Given the description of an element on the screen output the (x, y) to click on. 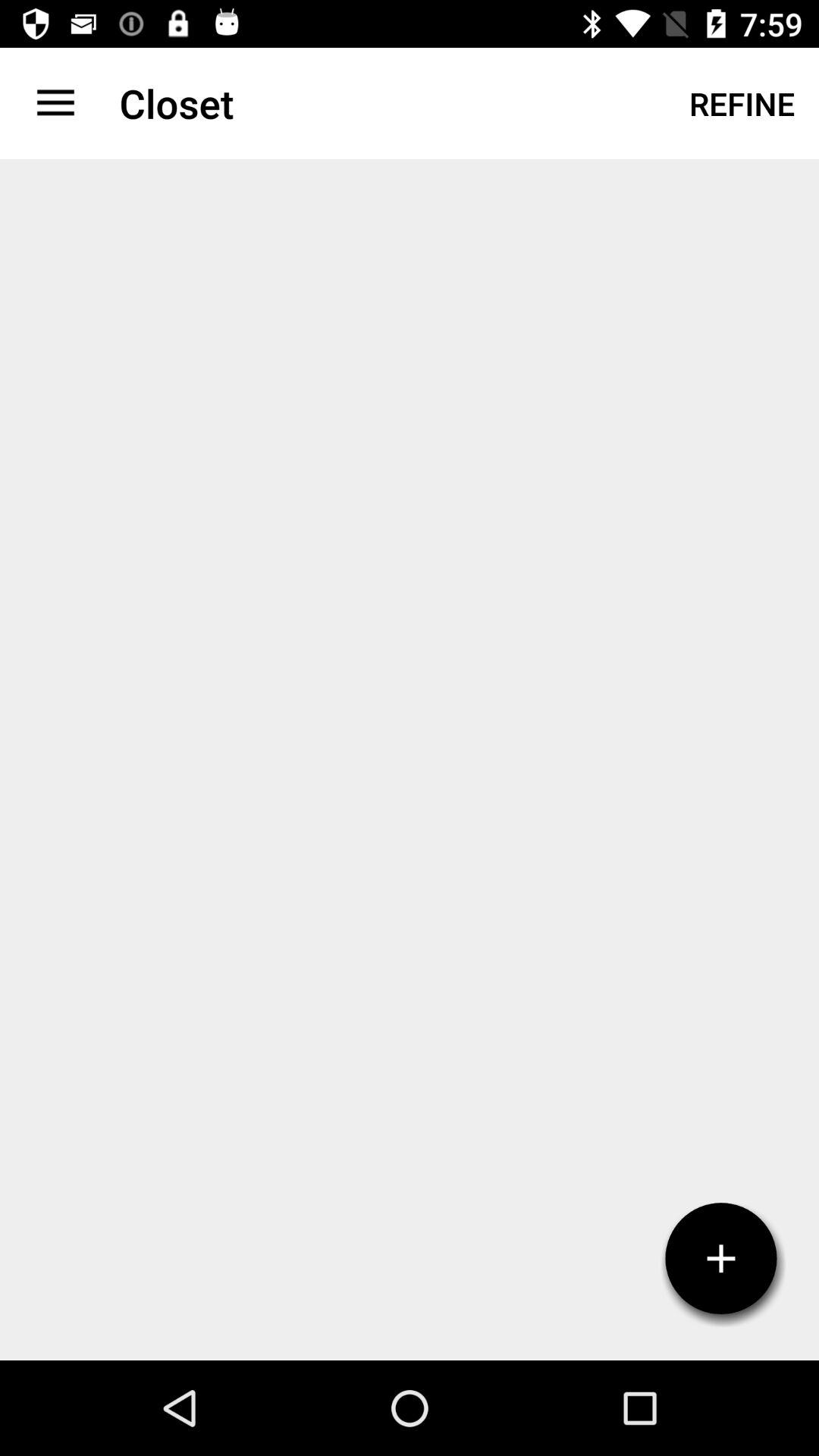
launch app to the left of the closet (55, 103)
